Given the description of an element on the screen output the (x, y) to click on. 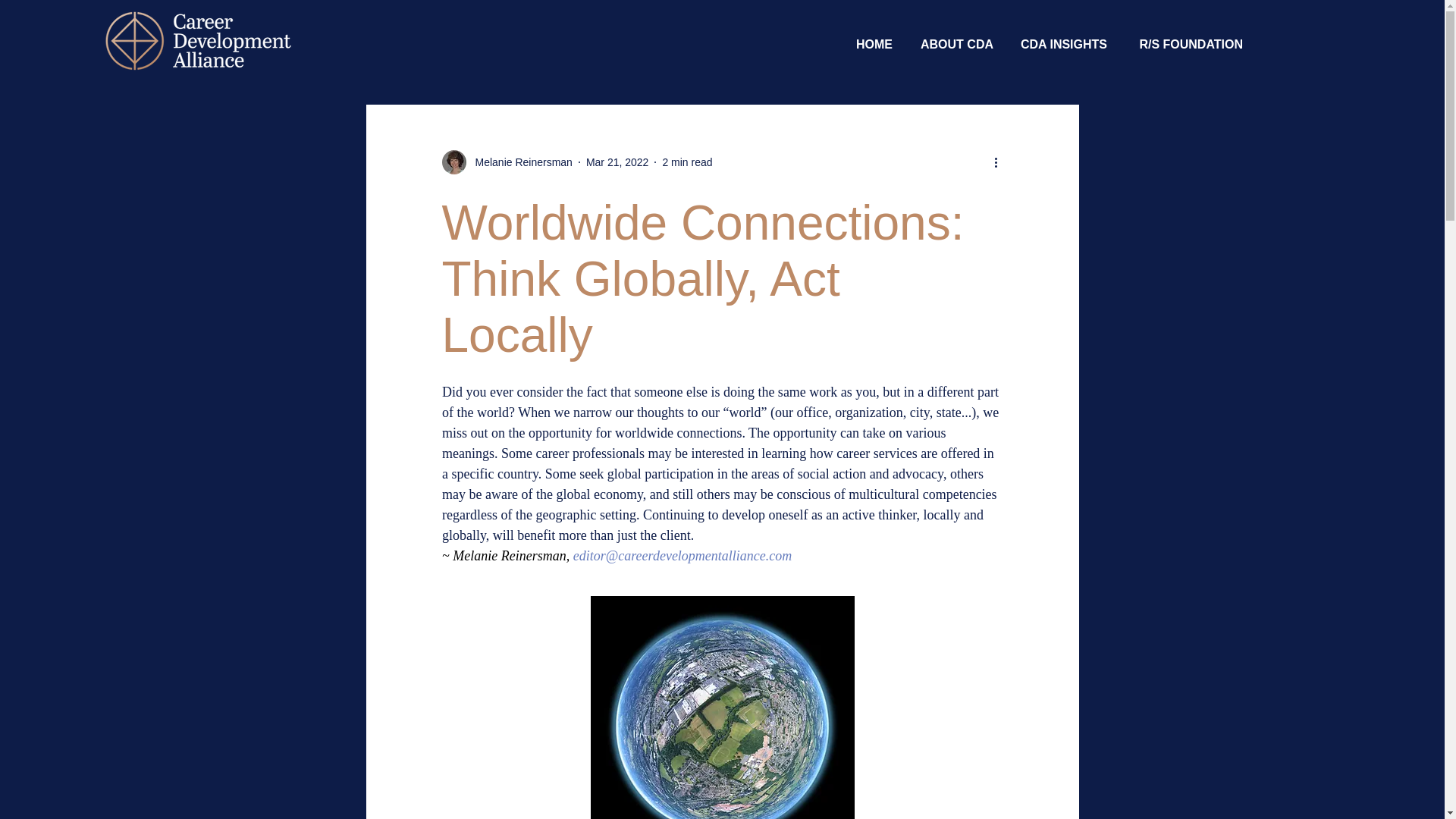
2 min read (686, 162)
CDA INSIGHTS (1061, 44)
Mar 21, 2022 (617, 162)
ABOUT CDA (954, 44)
Melanie Reinersman (518, 162)
HOME (872, 44)
